Given the description of an element on the screen output the (x, y) to click on. 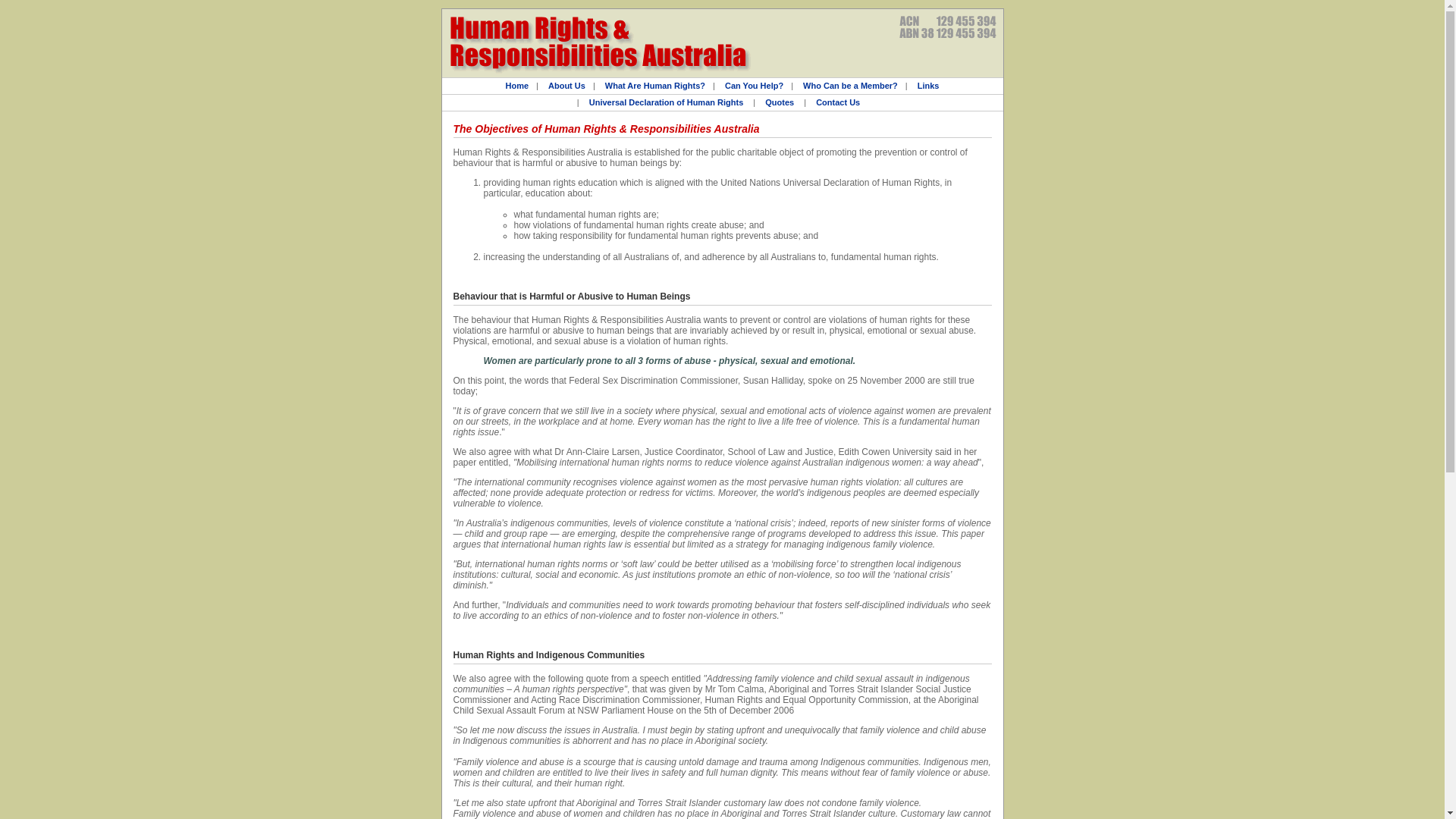
What Are Human Rights? Element type: text (654, 85)
Can You Help? Element type: text (753, 85)
Contact Us Element type: text (837, 102)
Home Element type: text (517, 85)
Who Can be a Member? Element type: text (850, 85)
Links Element type: text (928, 85)
Quotes Element type: text (779, 102)
Universal Declaration of Human Rights Element type: text (666, 102)
About Us Element type: text (566, 85)
